Given the description of an element on the screen output the (x, y) to click on. 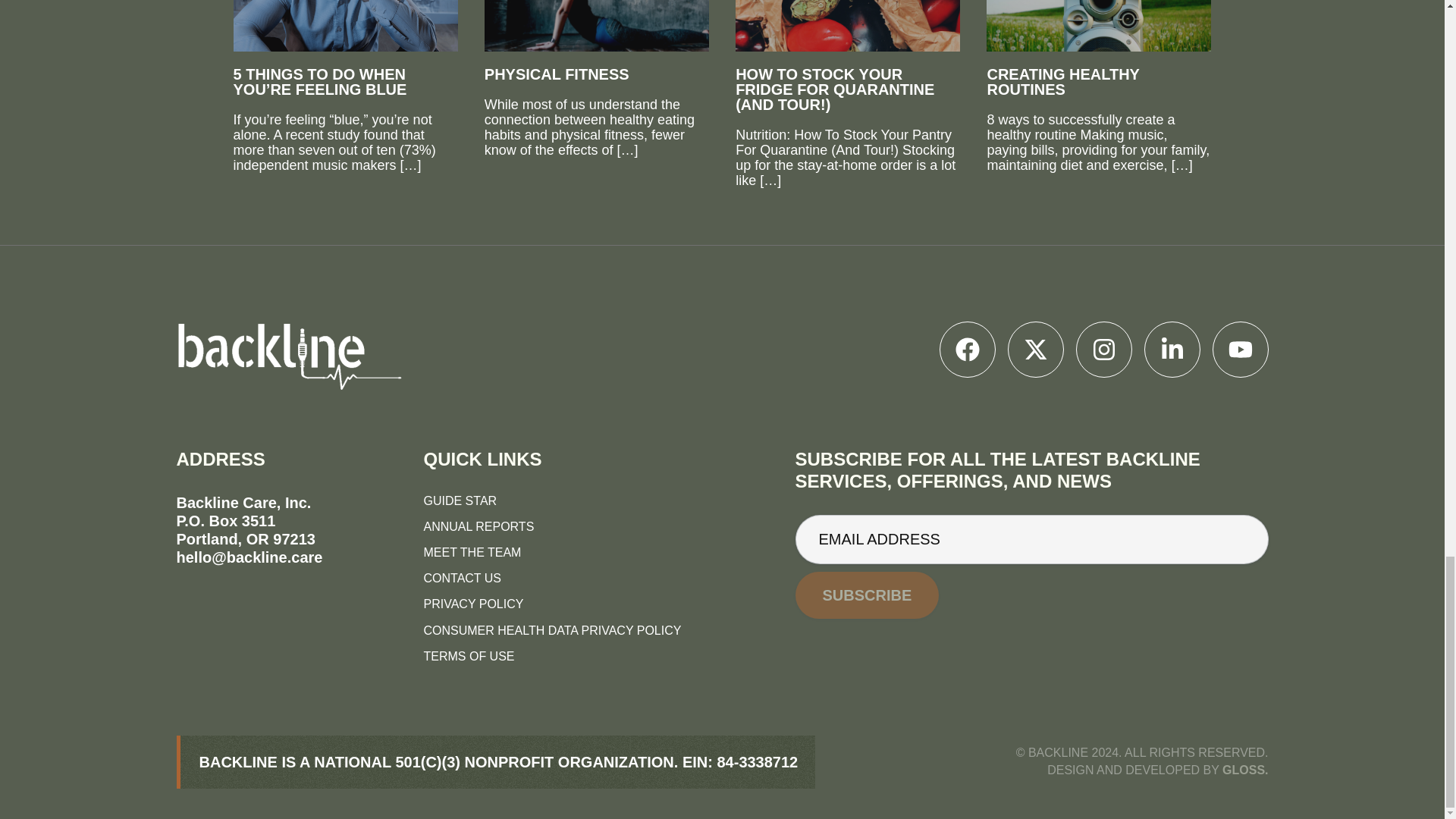
Physical Fitness (596, 40)
Creating Healthy Routines (1099, 48)
Subscribe (866, 595)
